Given the description of an element on the screen output the (x, y) to click on. 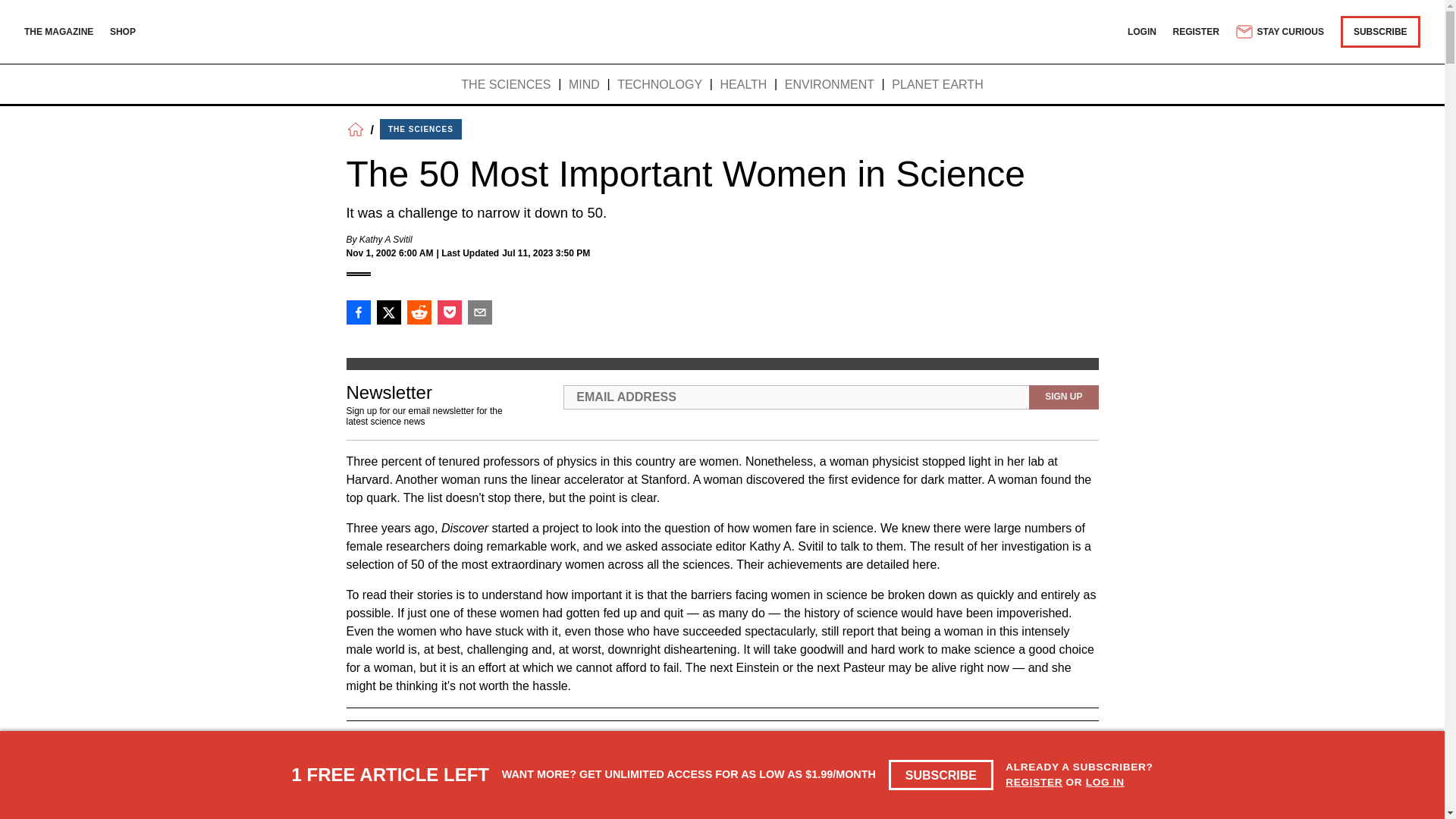
STAY CURIOUS (1278, 31)
THE MAGAZINE (58, 31)
HEALTH (743, 84)
REGISTER (1196, 31)
Kathy A Svitil (385, 239)
LOG IN (1105, 781)
LOGIN (1141, 31)
THE SCIENCES (420, 128)
SIGN UP (1063, 396)
TECHNOLOGY (659, 84)
